Given the description of an element on the screen output the (x, y) to click on. 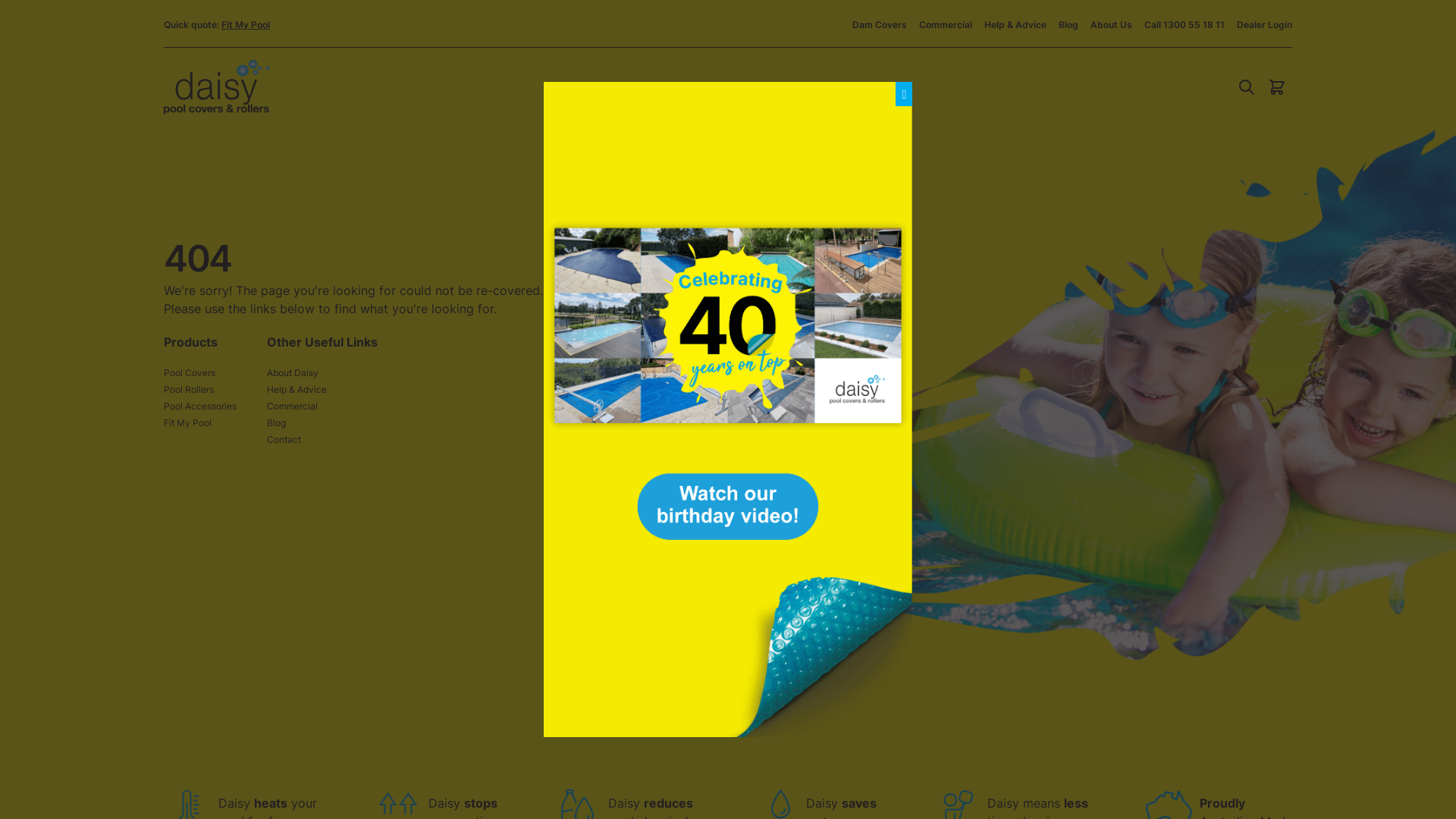
Dealer Login Element type: text (1264, 24)
Fit My Pool Element type: text (187, 422)
Call 1300 55 18 11 Element type: text (1184, 24)
Blog Element type: text (1068, 24)
About Us Element type: text (1111, 24)
Pool Covers Element type: text (638, 87)
Blog Element type: text (275, 422)
Pool Rollers Element type: text (188, 389)
Pool Accessories Element type: text (856, 86)
Pool Rollers Element type: text (744, 87)
About Daisy Element type: text (292, 372)
Help & Advice Element type: text (296, 389)
Fit My Pool Element type: text (245, 24)
Contact Element type: text (283, 439)
Dam Covers Element type: text (879, 24)
Commercial Element type: text (945, 24)
Pool Accessories Element type: text (199, 405)
Help & Advice Element type: text (1015, 24)
Commercial Element type: text (291, 405)
Pool Covers Element type: text (189, 372)
